Given the description of an element on the screen output the (x, y) to click on. 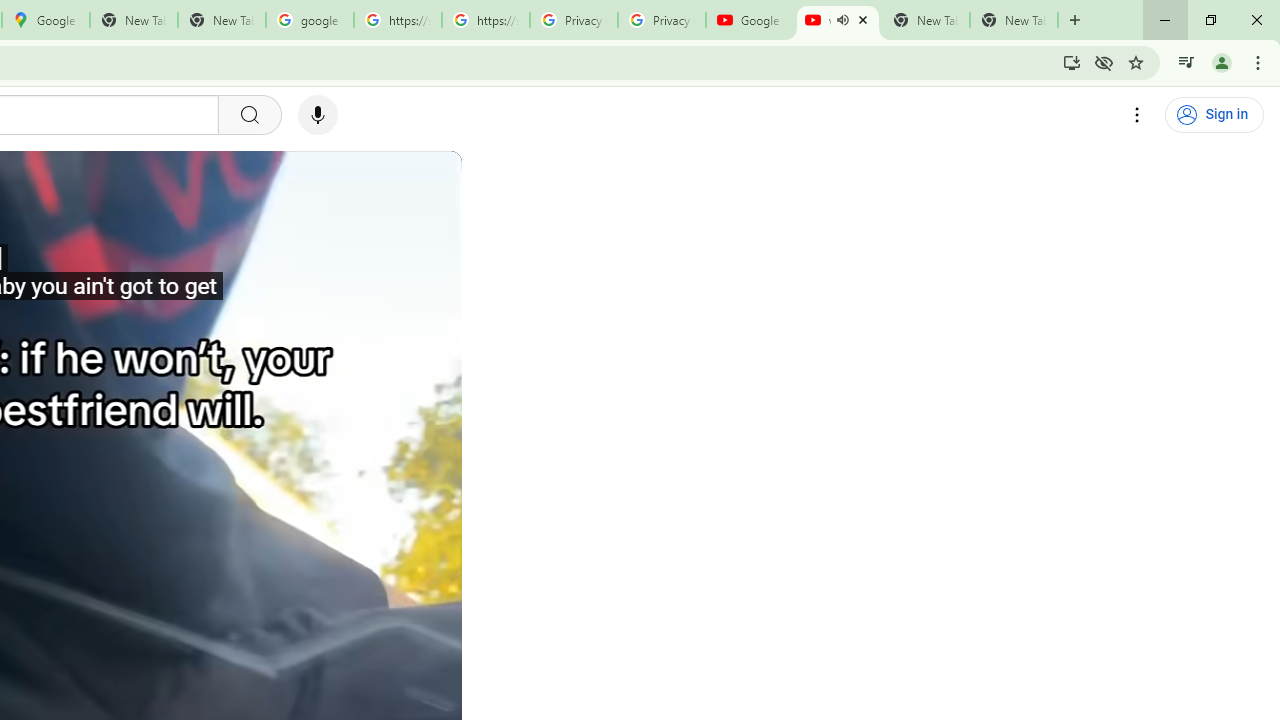
New Tab (1014, 20)
Search (249, 115)
https://scholar.google.com/ (485, 20)
https://scholar.google.com/ (397, 20)
Close (862, 19)
Minimize (1165, 20)
Third-party cookies blocked (1103, 62)
